Given the description of an element on the screen output the (x, y) to click on. 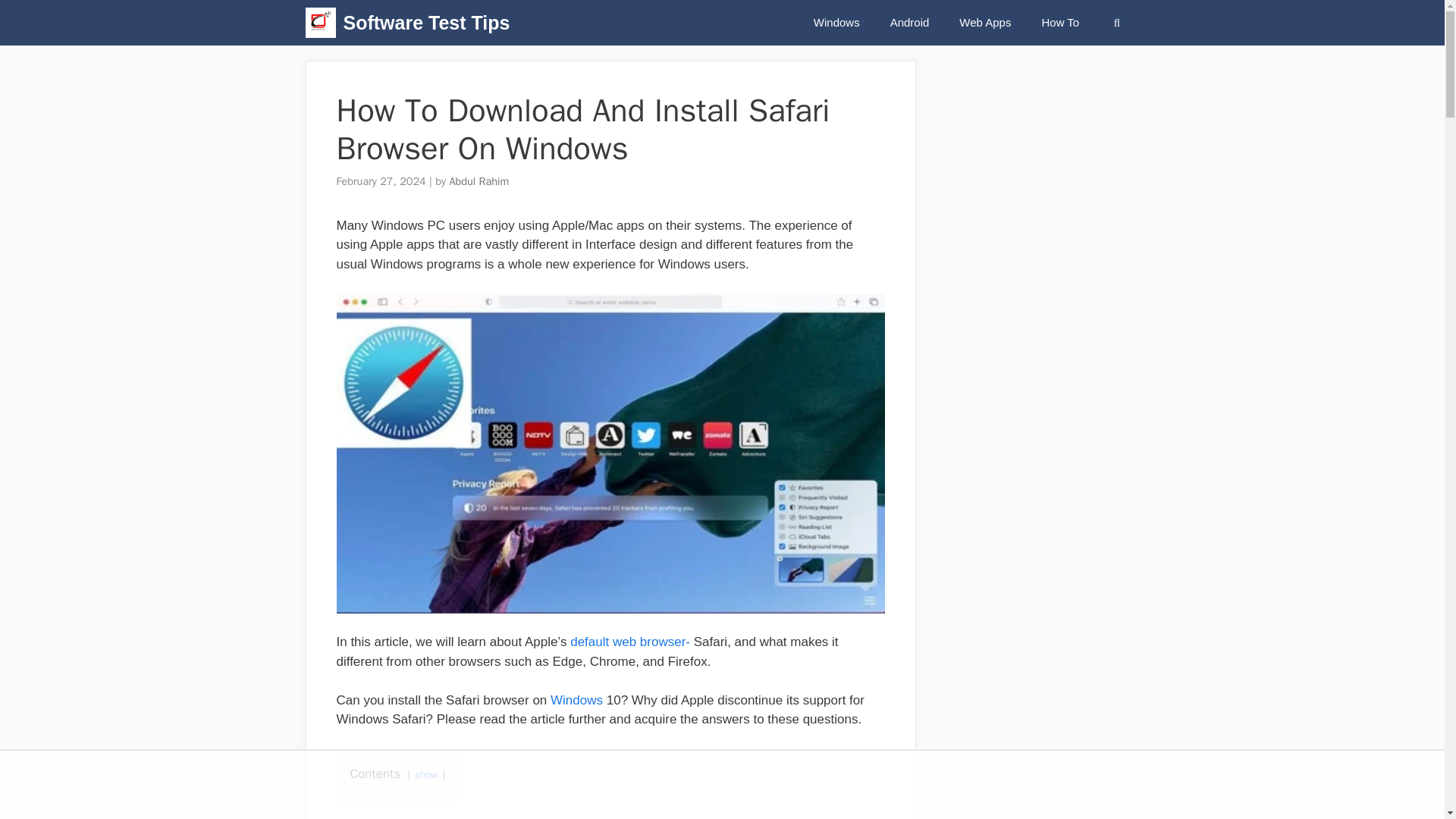
Web Apps (984, 22)
Abdul Rahim (478, 181)
default web browser- (630, 641)
Android (909, 22)
show (426, 774)
Windows (576, 699)
How To (1060, 22)
View all posts by Abdul Rahim (478, 181)
Windows (836, 22)
